Given the description of an element on the screen output the (x, y) to click on. 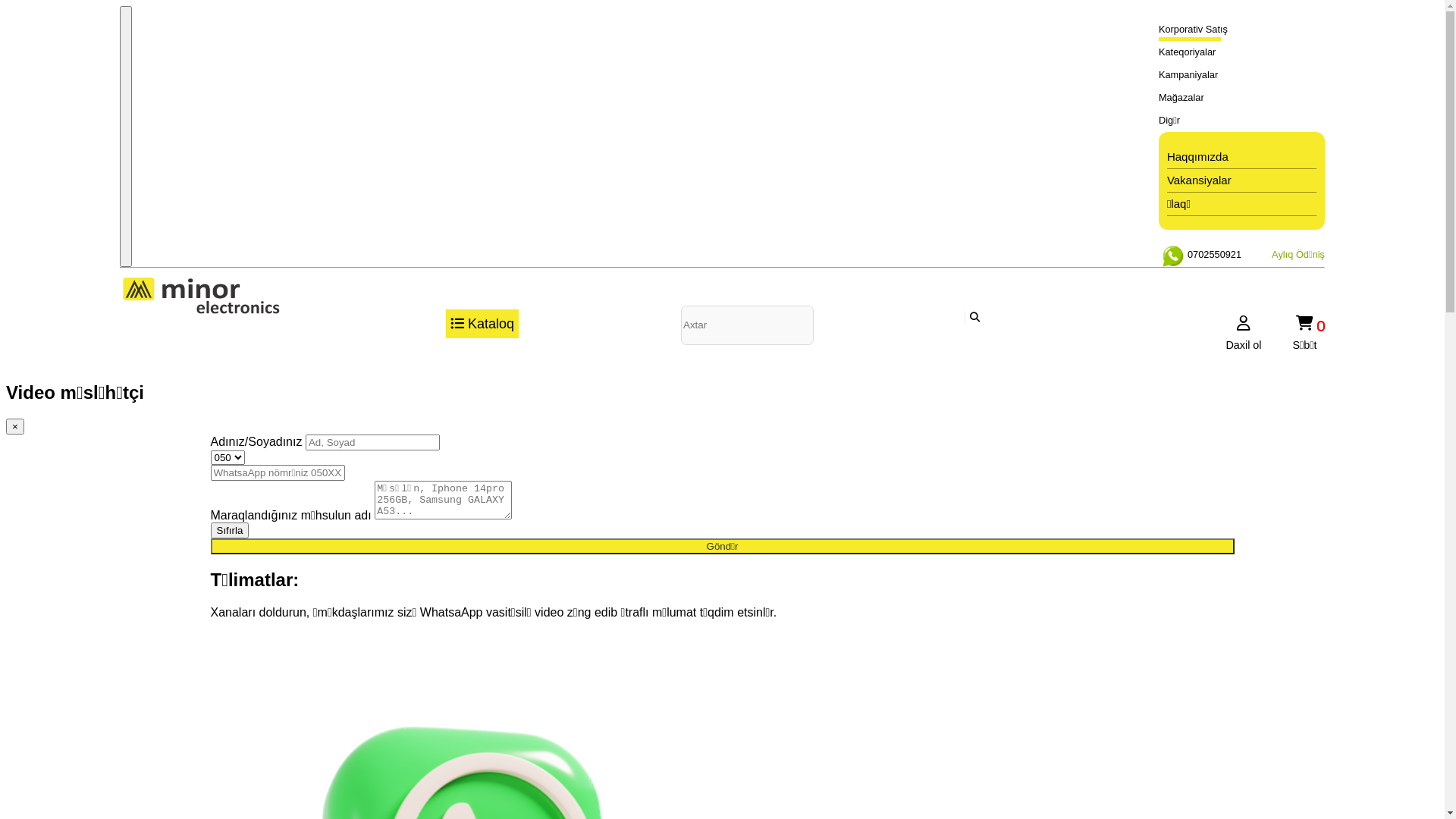
Kateqoriyalar Element type: text (1232, 51)
0702550921 Element type: text (1199, 253)
Vakansiyalar Element type: text (1241, 180)
Daxil ol Element type: text (1243, 329)
Kampaniyalar Element type: text (1232, 74)
Kataloq Element type: text (481, 323)
